Given the description of an element on the screen output the (x, y) to click on. 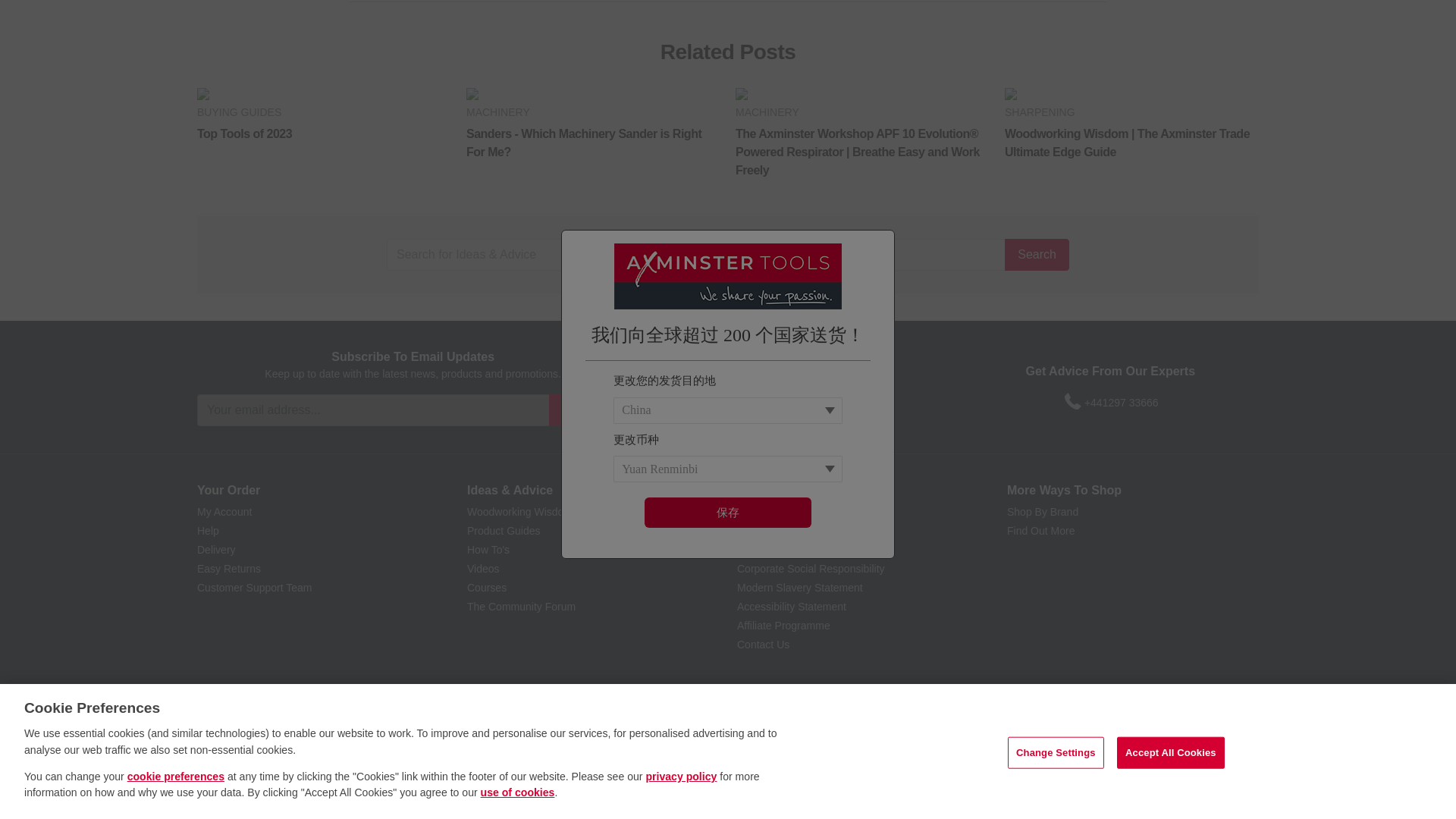
Instagram (795, 402)
TikTok (822, 402)
Phone (1071, 402)
Community (878, 402)
YouTube (766, 402)
LinkedIn (850, 402)
Facebook (710, 402)
